Given the description of an element on the screen output the (x, y) to click on. 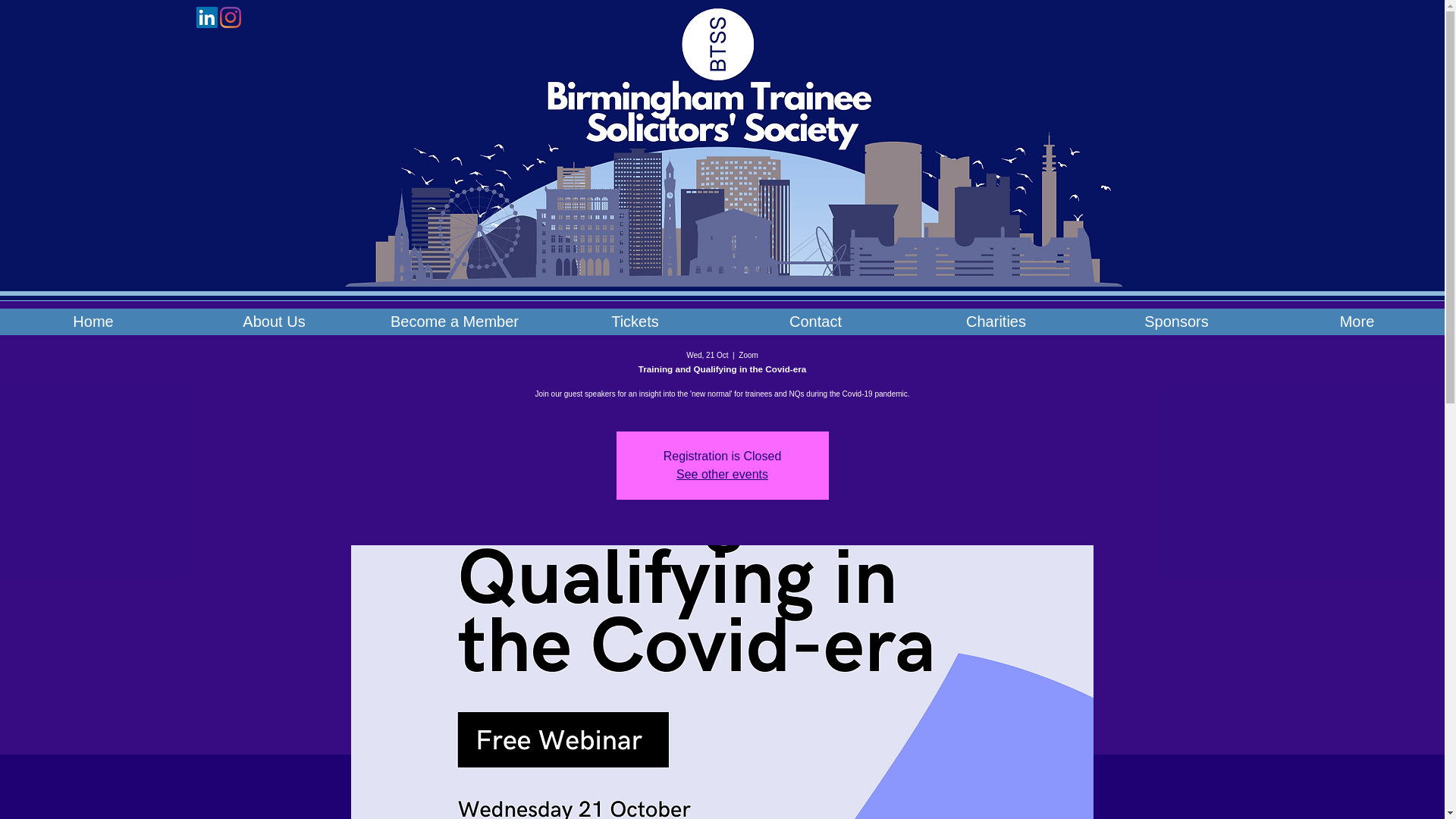
Charities (995, 322)
Contact (815, 322)
About Us (273, 322)
See other events (722, 473)
Sponsors (1176, 322)
Tickets (634, 322)
Home (92, 322)
Become a Member (453, 322)
